Given the description of an element on the screen output the (x, y) to click on. 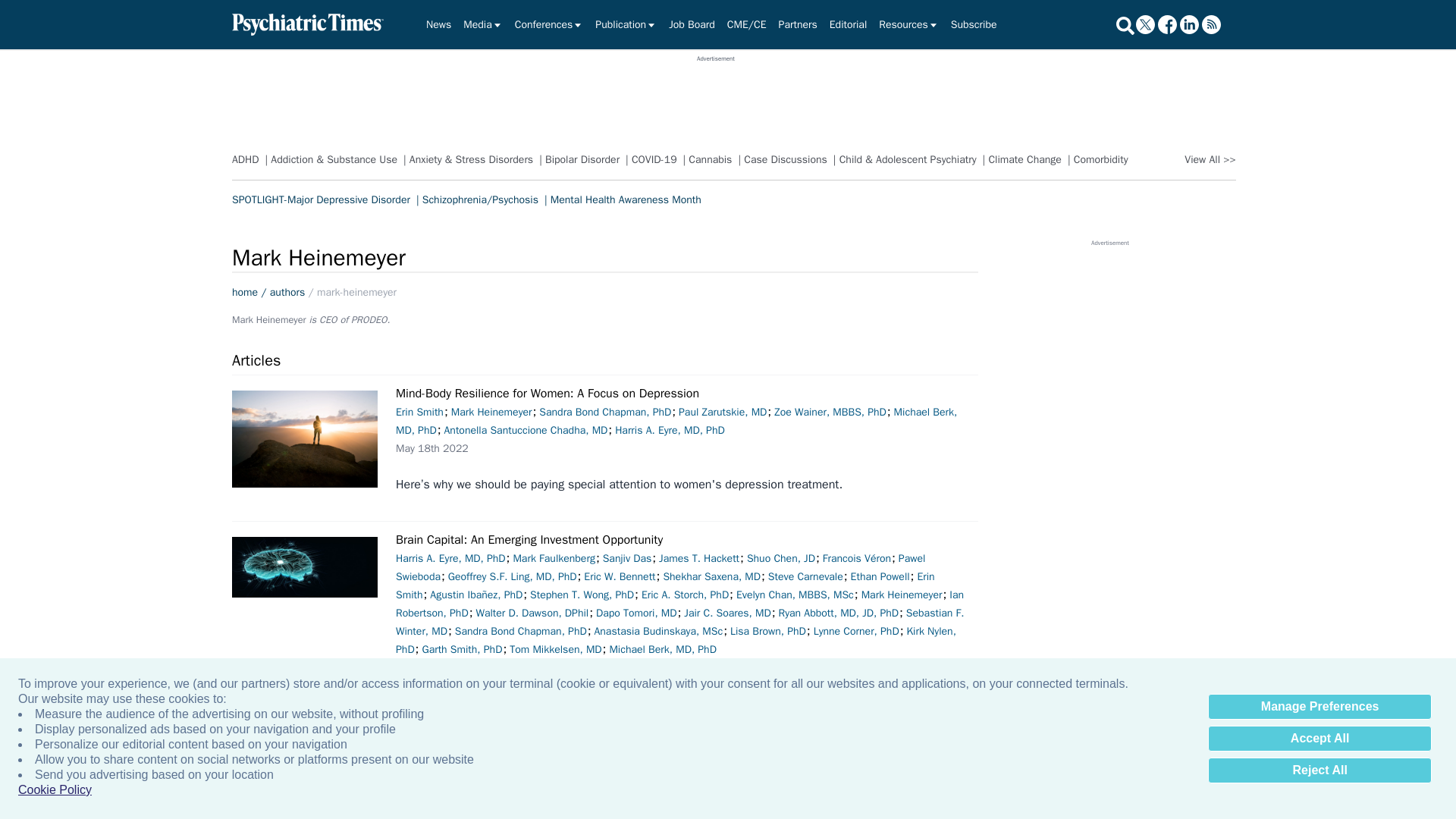
3rd party ad content (715, 97)
Job Board (691, 23)
Cookie Policy (54, 789)
Mind-Body Resilience for Women: A Focus on Depression (304, 438)
3rd party ad content (1109, 474)
Manage Preferences (1319, 706)
Reject All (1319, 769)
News (438, 23)
Partners (797, 23)
electronic health records (1024, 754)
Subscribe (973, 23)
Brain Capital: An Emerging Investment Opportunity (304, 567)
Accept All (1319, 738)
traumatic stress (1027, 811)
